Given the description of an element on the screen output the (x, y) to click on. 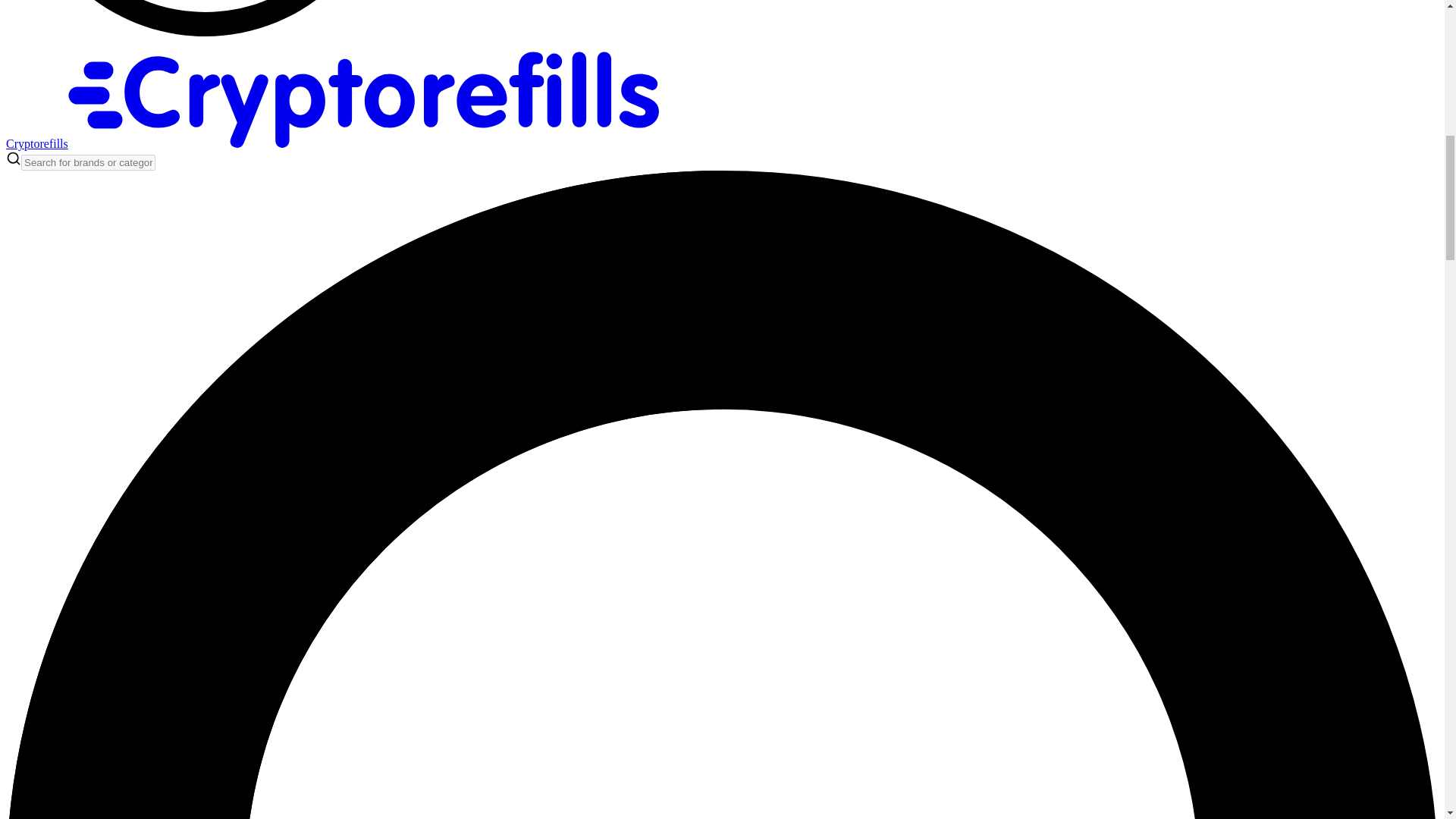
Cryptorefills (346, 143)
